Given the description of an element on the screen output the (x, y) to click on. 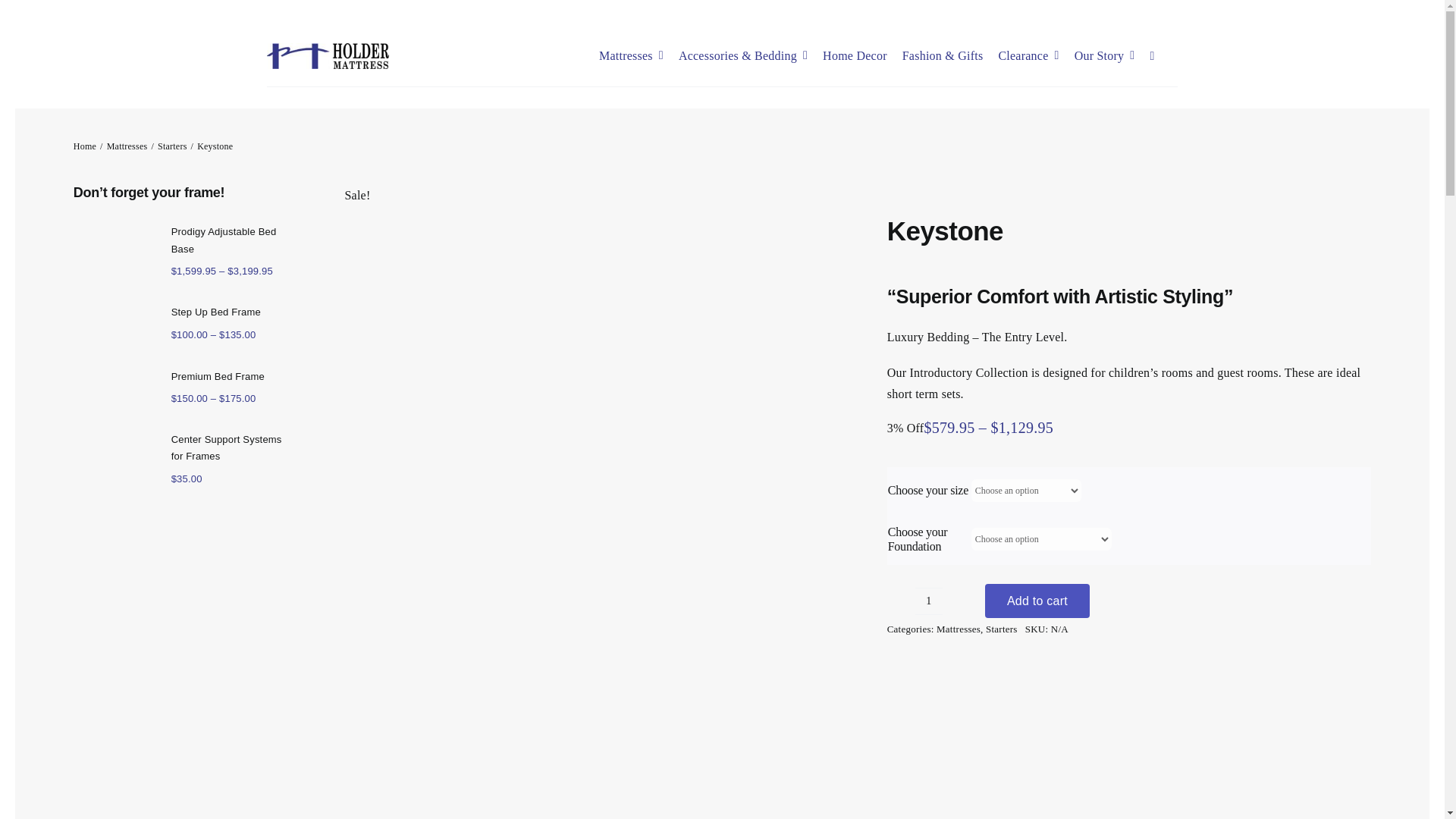
Mattresses (630, 56)
Our Story (1104, 56)
Home Decor (854, 56)
1 (928, 601)
Clearance (1027, 56)
